Given the description of an element on the screen output the (x, y) to click on. 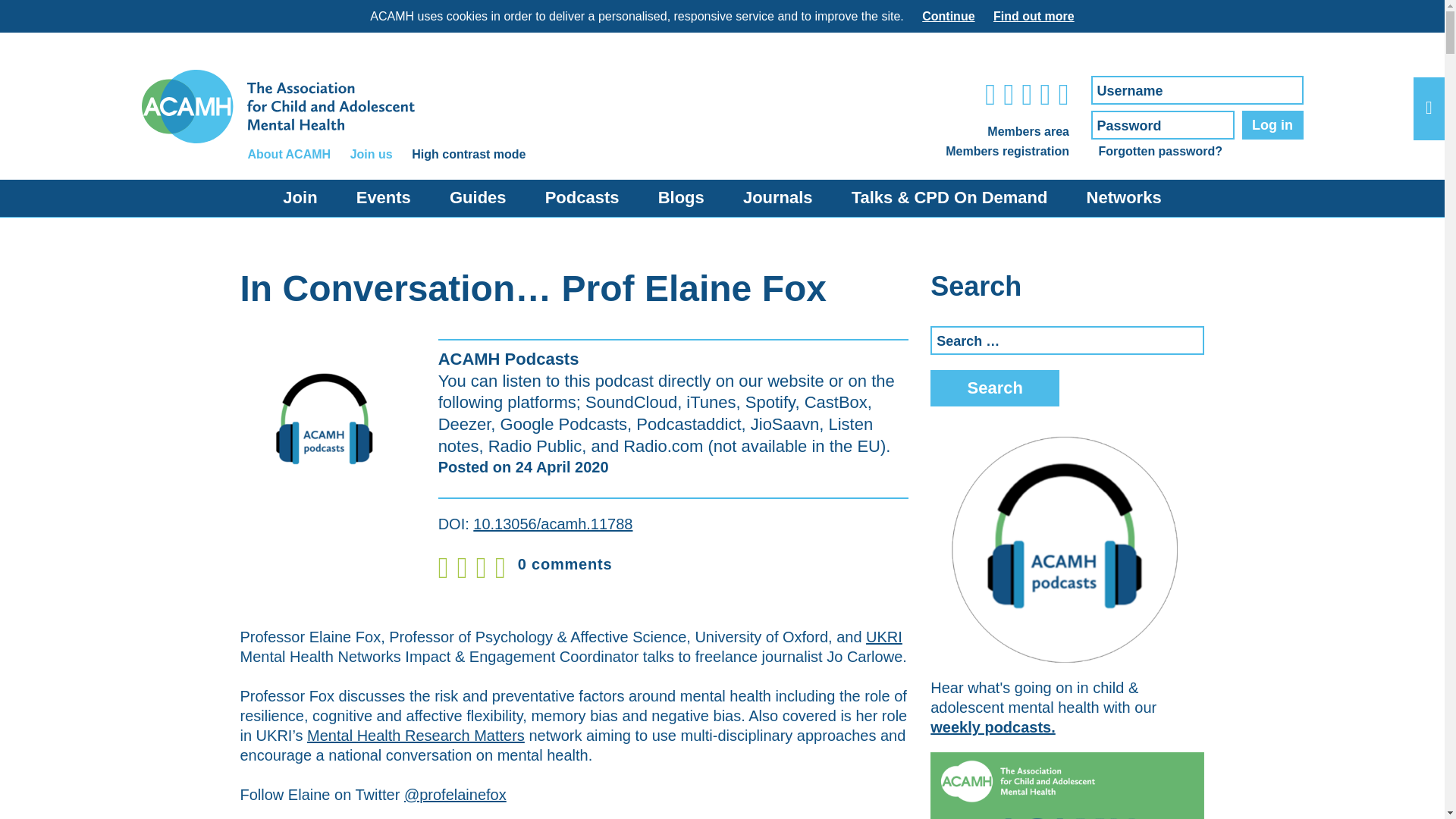
Blogs (681, 198)
Find out more (1033, 15)
Search (994, 388)
High contrast mode (468, 154)
Search (994, 388)
About ACAMH (288, 154)
Events (383, 198)
Log in (1272, 124)
Continue (947, 15)
Guides (477, 198)
